Given the description of an element on the screen output the (x, y) to click on. 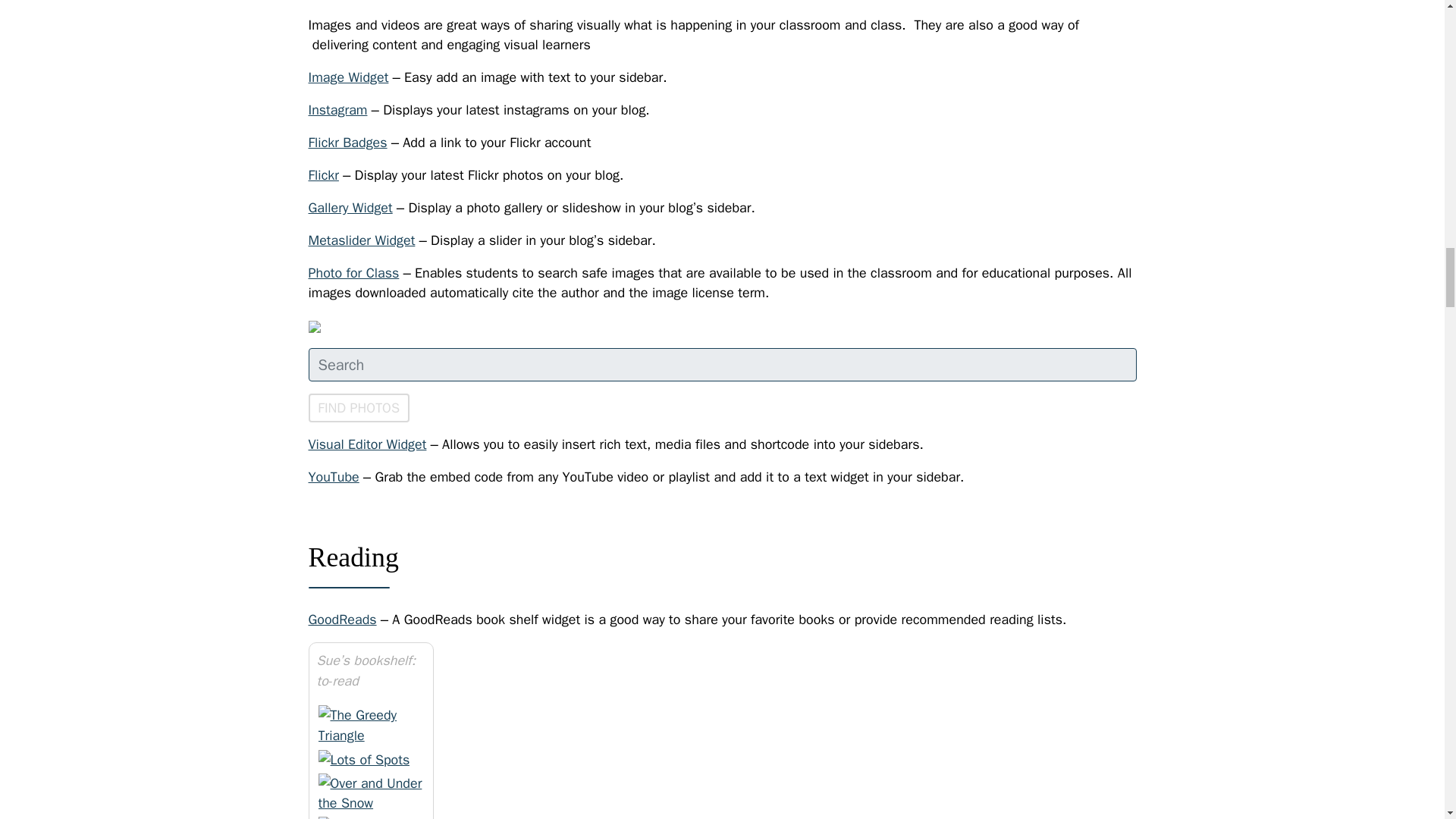
Over and Under the Snow (371, 793)
Flickr (322, 175)
Image Widget (347, 76)
Find Photos (358, 407)
Flickr Badges (347, 142)
The Greedy Triangle (371, 725)
Instagram (336, 109)
Lots of Spots (364, 759)
How Do Dinosaurs Eat Their Food? (371, 816)
